Given the description of an element on the screen output the (x, y) to click on. 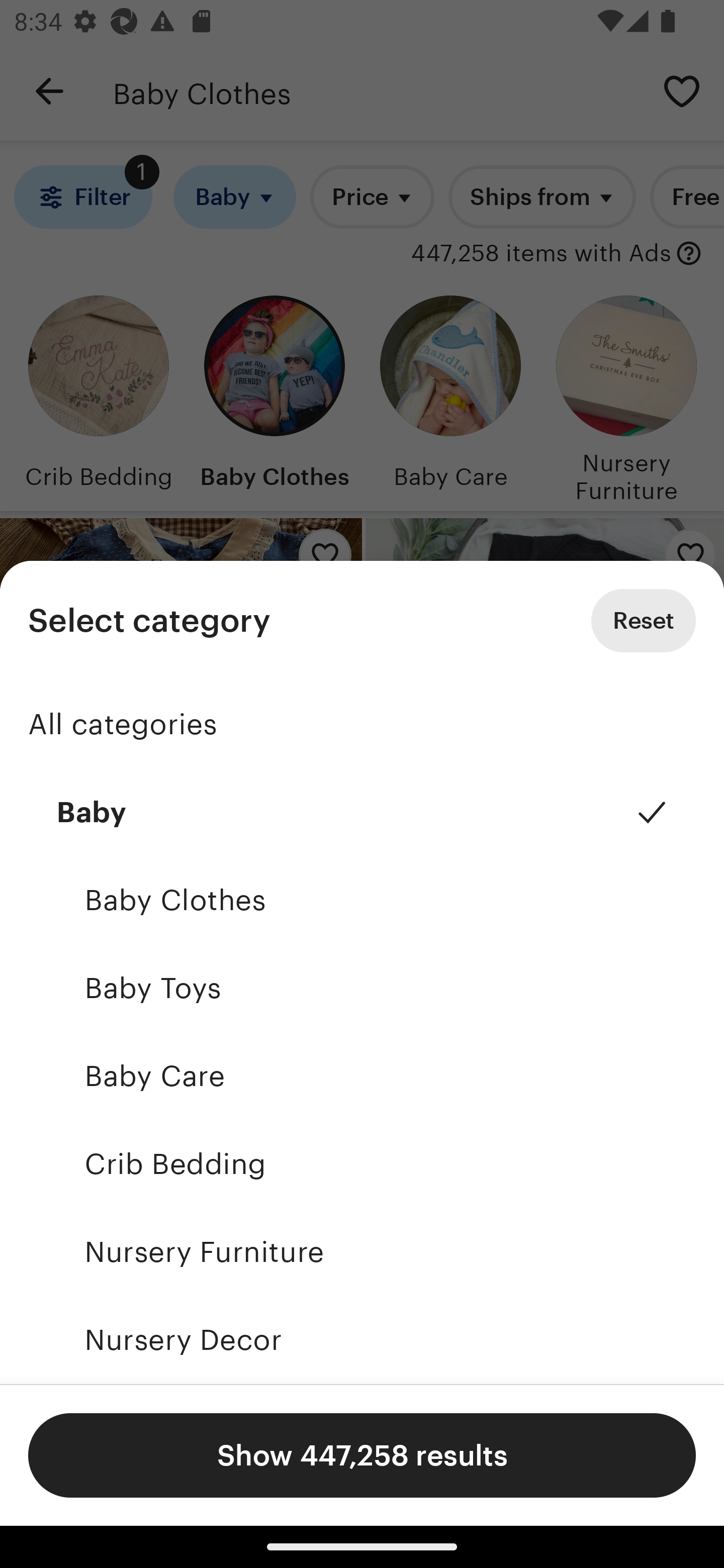
Reset (643, 620)
All categories (362, 724)
Baby Selected (362, 812)
Baby Clothes (362, 899)
Baby Toys (362, 987)
Baby Care (362, 1075)
Crib Bedding (362, 1163)
Nursery Furniture (362, 1252)
Nursery Decor (362, 1340)
Show 447,258 results (361, 1454)
